Given the description of an element on the screen output the (x, y) to click on. 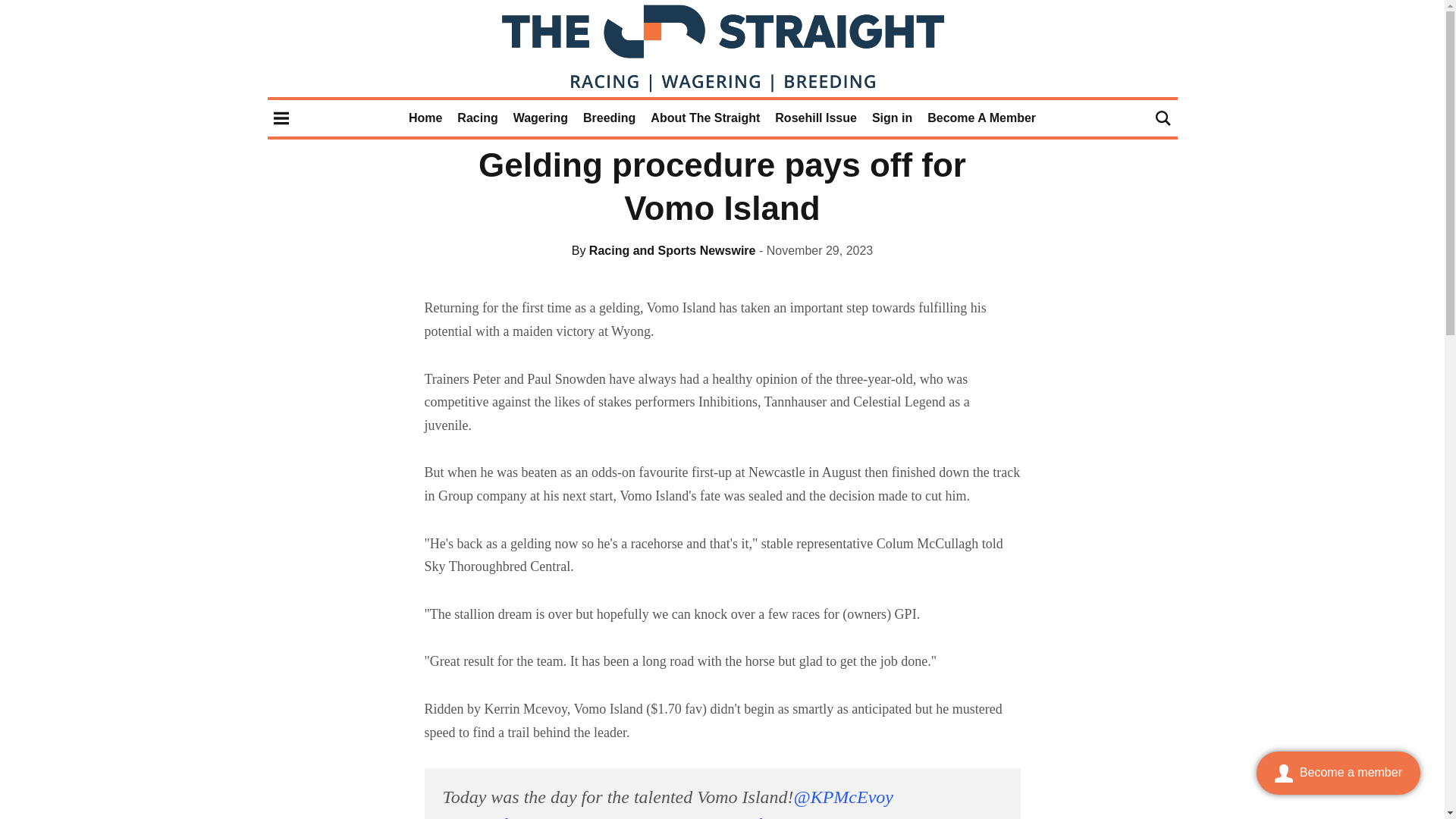
Wagering (540, 117)
About The Straight (705, 117)
Breeding (608, 117)
Racing (477, 117)
Home (425, 117)
29 November, 2023 (815, 250)
Rosehill Issue (815, 117)
Become A Member (981, 117)
Sign in (892, 117)
By Racing and Sports Newswire (663, 250)
